Given the description of an element on the screen output the (x, y) to click on. 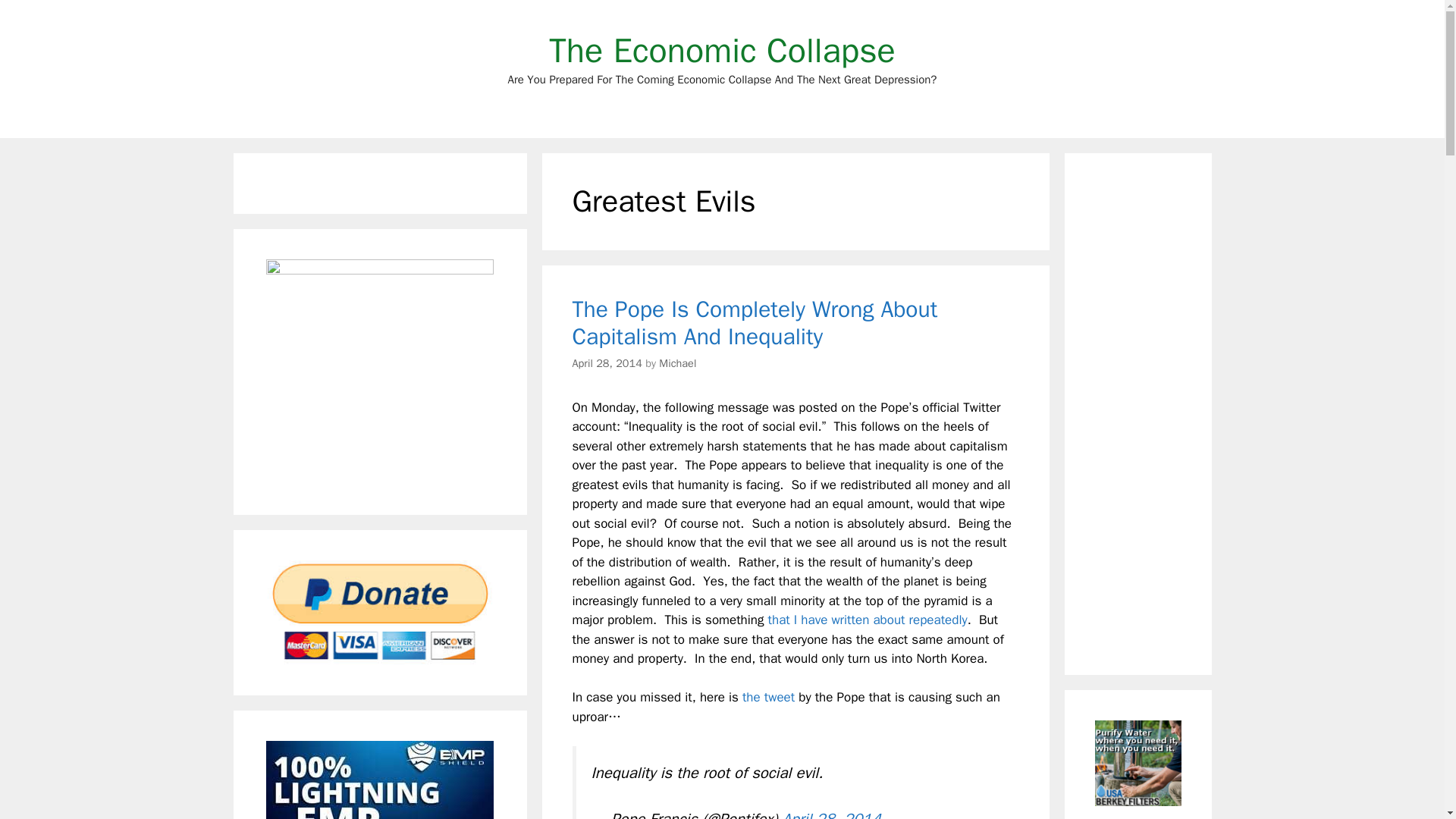
View all posts by Michael (677, 363)
that I have written about repeatedly (868, 619)
The Economic Collapse (721, 50)
the tweet (768, 697)
2:52 pm (607, 363)
April 28, 2014 (831, 814)
April 28, 2014 (607, 363)
The Pope Is Completely Wrong About Capitalism And Inequality (754, 322)
Michael (677, 363)
